Given the description of an element on the screen output the (x, y) to click on. 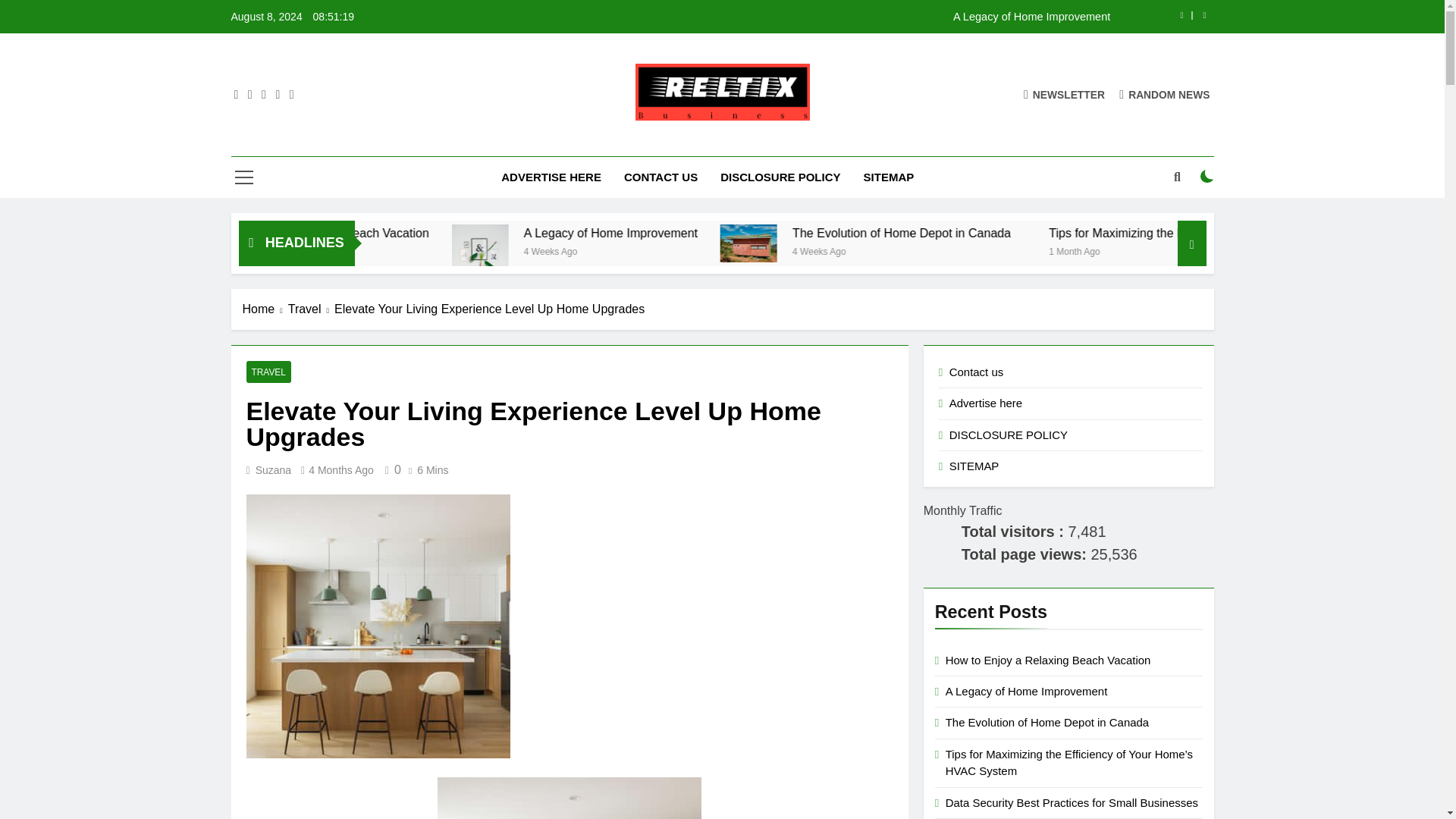
Reltix (523, 142)
RANDOM NEWS (1164, 93)
A Legacy of Home Improvement (817, 16)
A Legacy of Home Improvement (731, 233)
A Legacy of Home Improvement (817, 16)
4 Weeks Ago (967, 250)
NEWSLETTER (1064, 93)
4 Weeks Ago (705, 250)
A Legacy of Home Improvement (766, 233)
The Evolution of Home Depot in Canada (1049, 233)
